Given the description of an element on the screen output the (x, y) to click on. 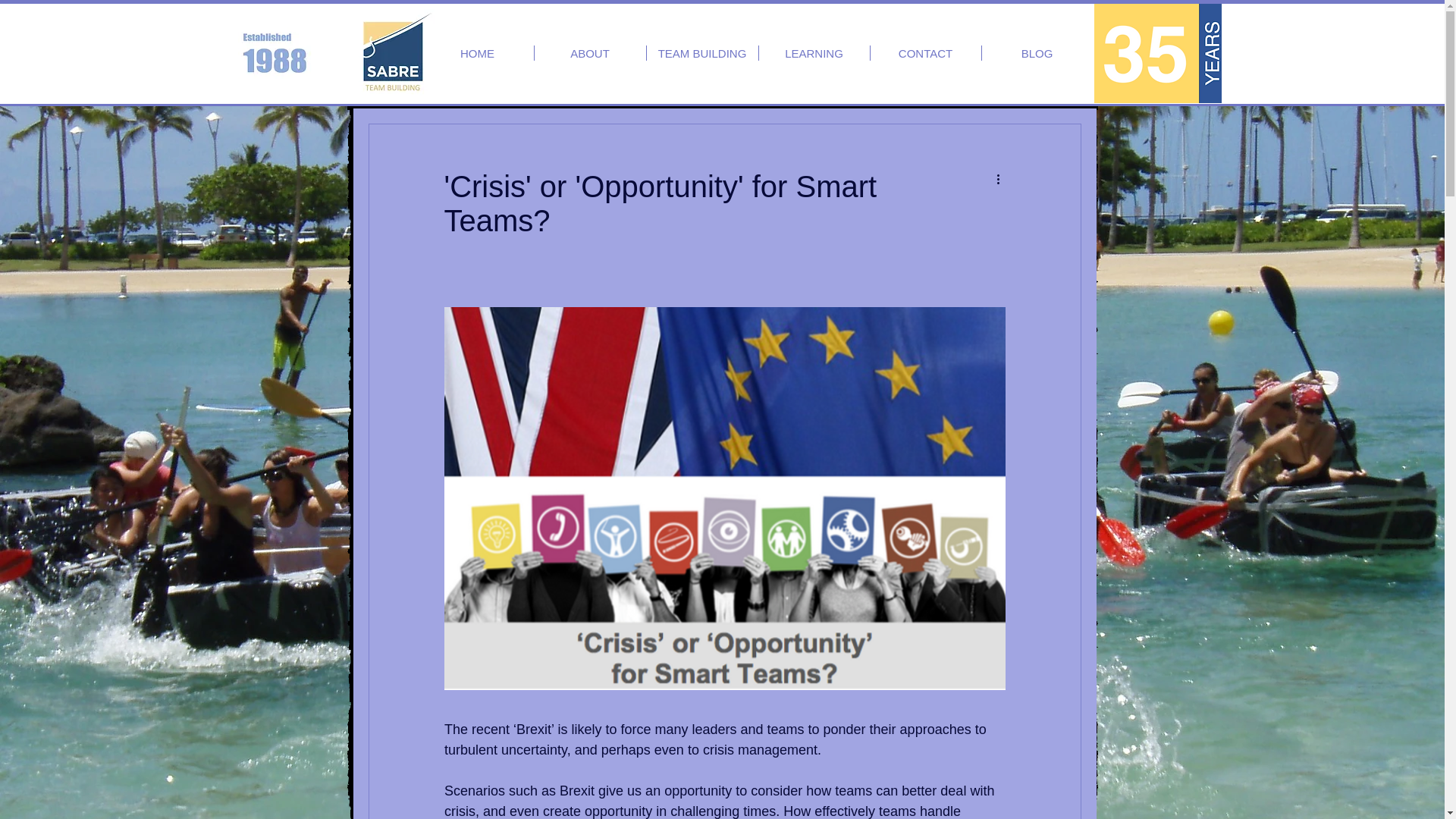
TEAM BUILDING (701, 52)
LEARNING (813, 52)
CONTACT (925, 52)
Team Building Australia since 1988 (1157, 53)
BLOG (1036, 52)
ABOUT (589, 52)
Team Building by Sabre Corporate Developmen (391, 52)
HOME (478, 52)
